Given the description of an element on the screen output the (x, y) to click on. 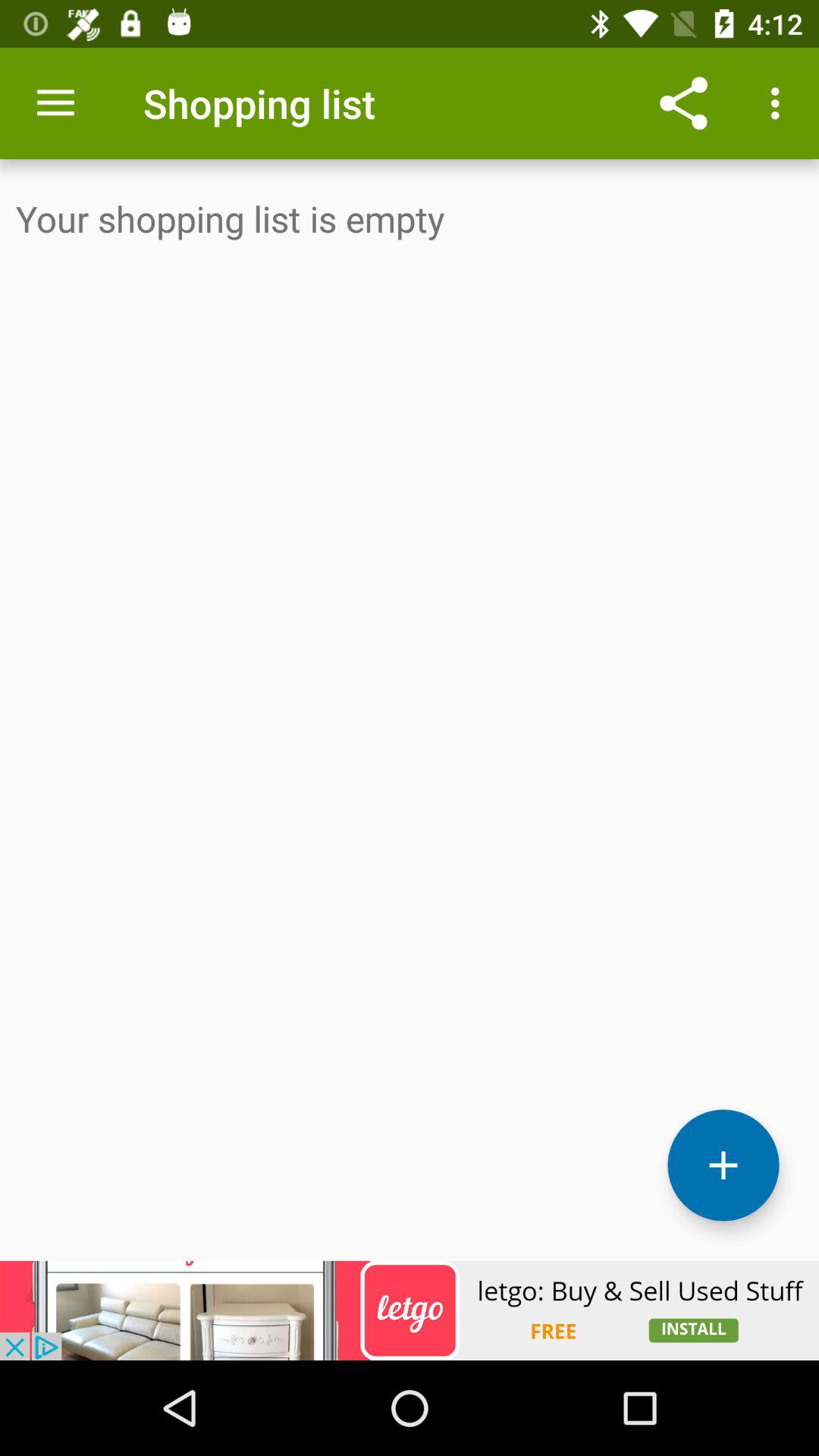
add item (723, 1165)
